Given the description of an element on the screen output the (x, y) to click on. 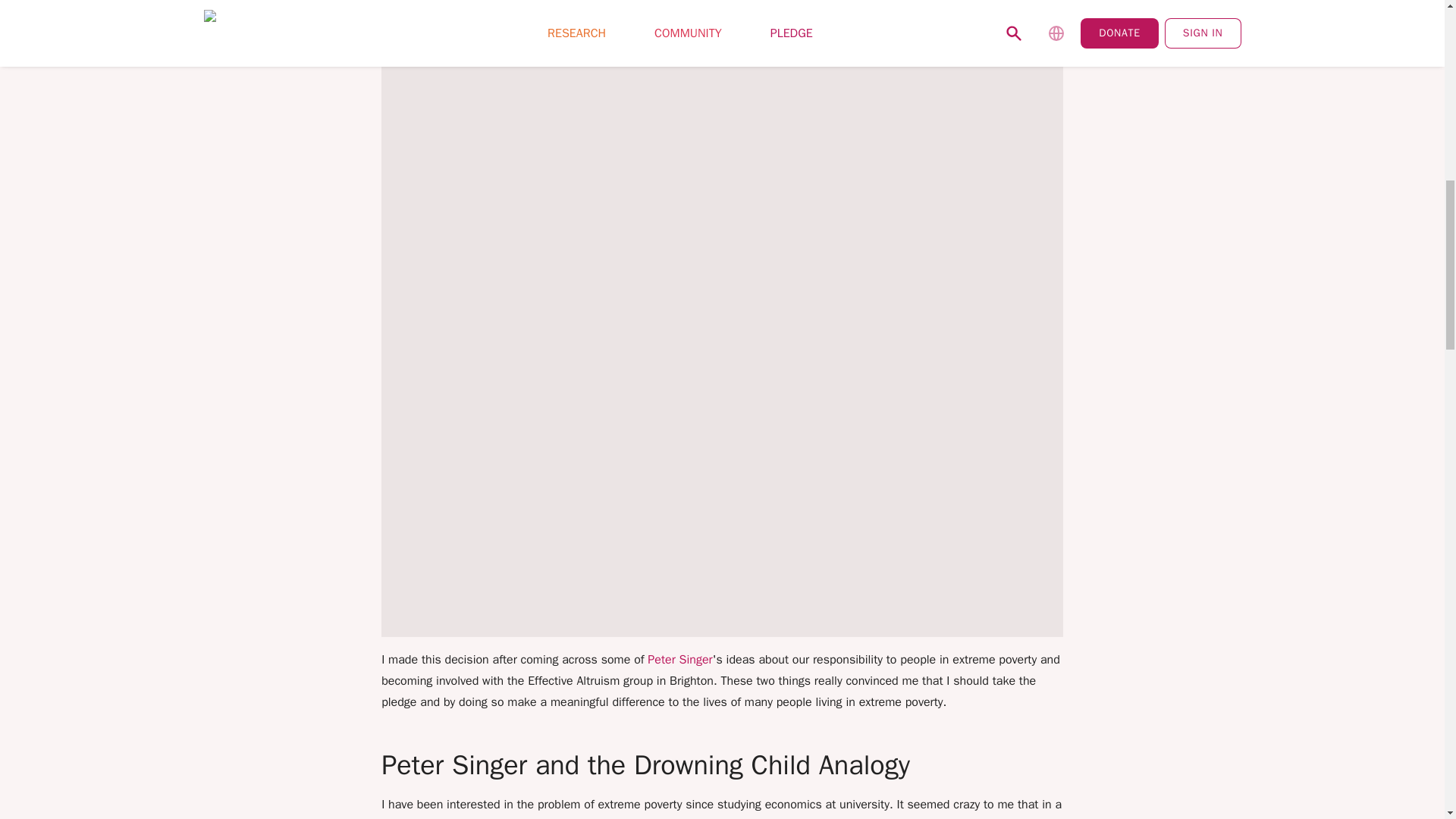
Peter Singer (679, 659)
